Given the description of an element on the screen output the (x, y) to click on. 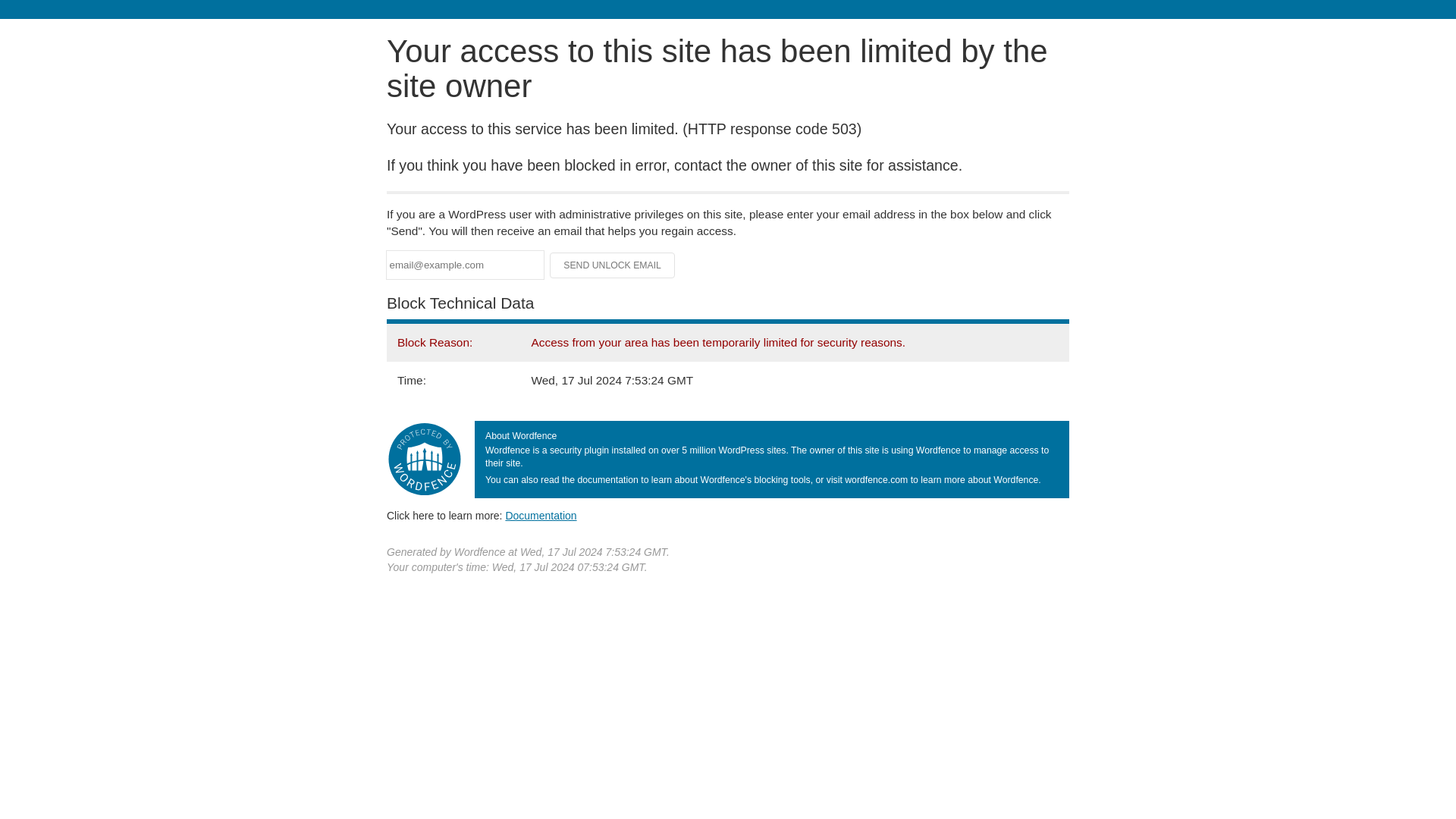
Documentation (540, 515)
Send Unlock Email (612, 265)
Send Unlock Email (612, 265)
